Given the description of an element on the screen output the (x, y) to click on. 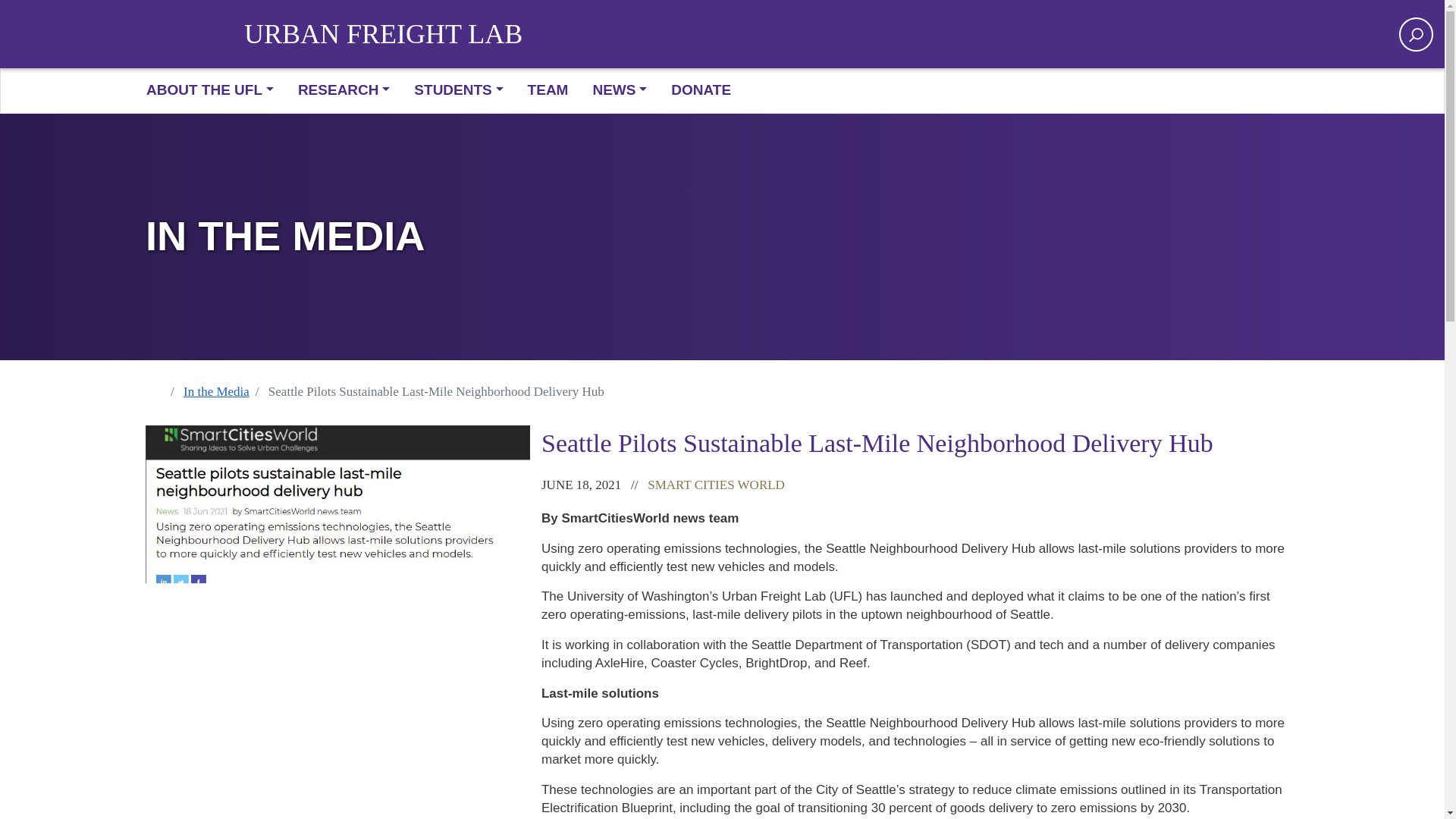
STUDENTS (458, 90)
ABOUT THE UFL (216, 90)
Urban Freight Lab: In the Media (721, 236)
In the Media (225, 392)
URBAN FREIGHT LAB (383, 34)
RESEARCH (343, 90)
TEAM (547, 90)
University of Washington Home (194, 33)
Urban Freight Lab (383, 34)
University of Washington (194, 33)
